Given the description of an element on the screen output the (x, y) to click on. 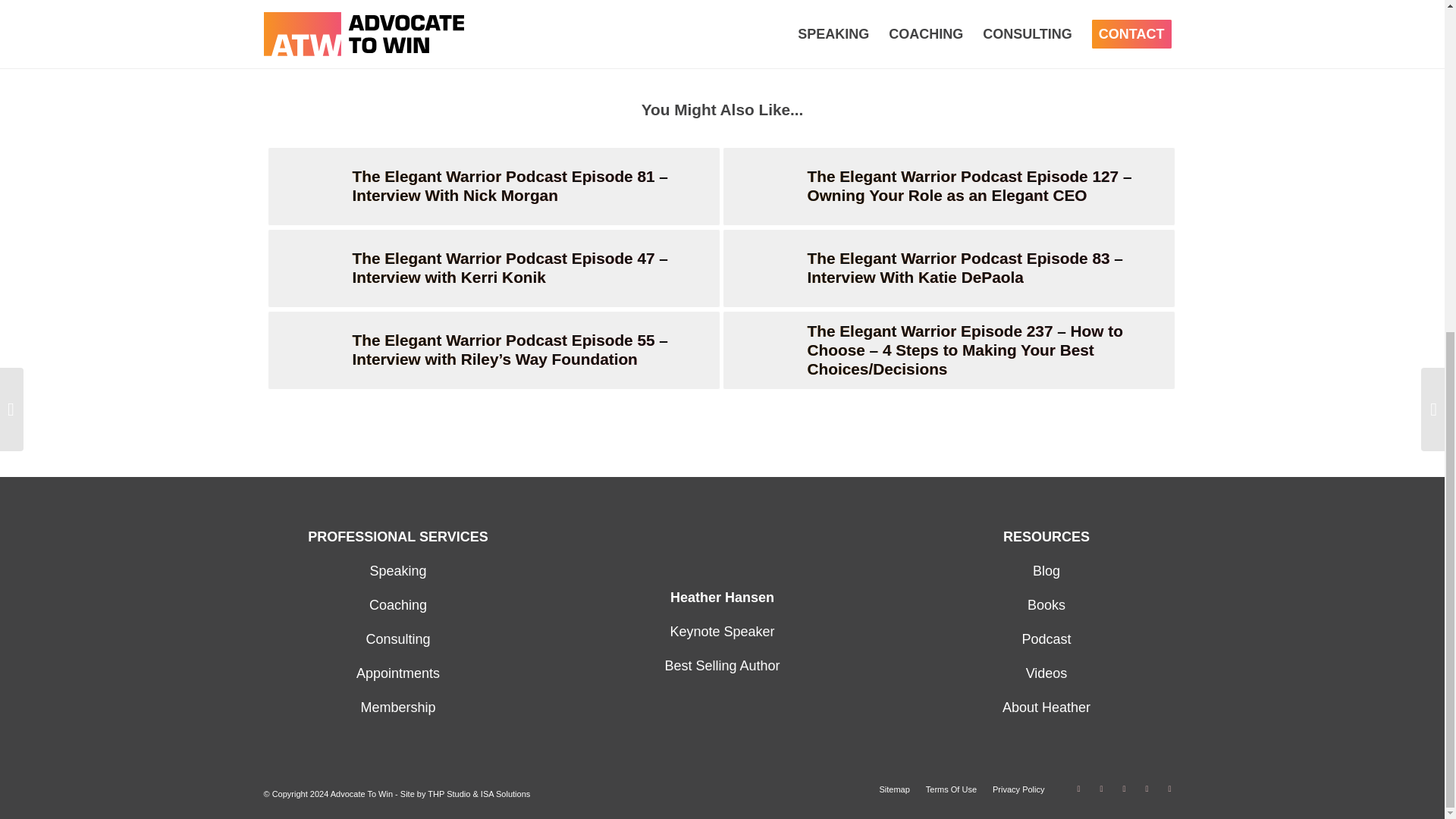
Appointments (397, 672)
Blog (1045, 570)
Membership (397, 707)
Videos (1046, 672)
Consulting (397, 639)
About Heather (1046, 707)
Coaching (397, 604)
ISA Solutions (504, 793)
Speaking (397, 570)
Advocate To Win (361, 793)
THP Studio (449, 793)
Books (1046, 604)
Podcast (1046, 639)
